Given the description of an element on the screen output the (x, y) to click on. 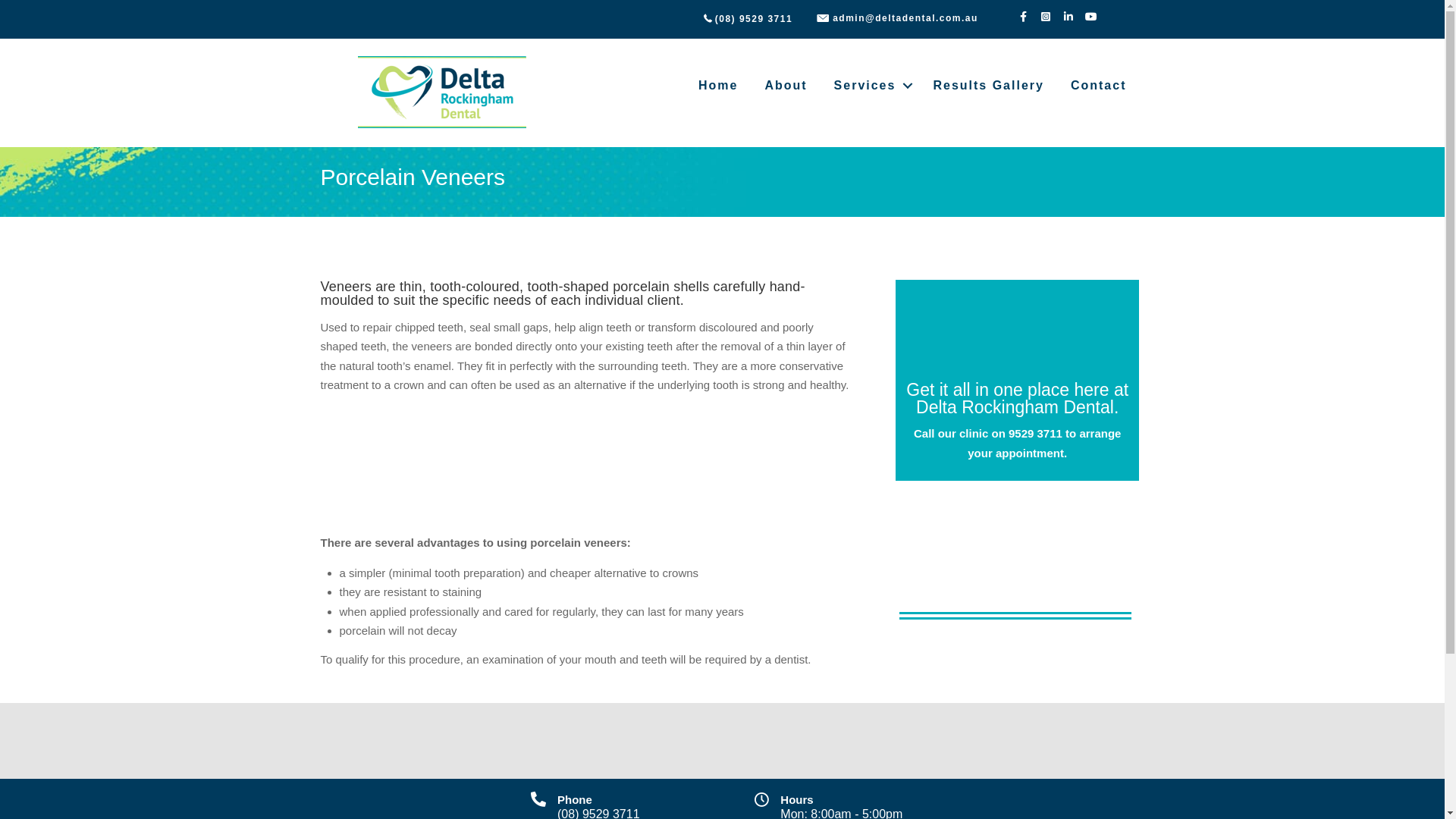
About Element type: text (785, 85)
veneers6 Element type: hover (1015, 571)
Services Element type: text (870, 85)
Results Gallery Element type: text (988, 85)
Contact Element type: text (1098, 85)
deltadental-logo Element type: hover (443, 92)
footer-banner-delta Element type: hover (721, 740)
admin@deltadental.com.au Element type: text (905, 17)
(08) 9529 3711 Element type: text (753, 18)
Delta_Logo_white Element type: hover (1017, 333)
Phone Element type: text (574, 799)
Home Element type: text (717, 85)
